Given the description of an element on the screen output the (x, y) to click on. 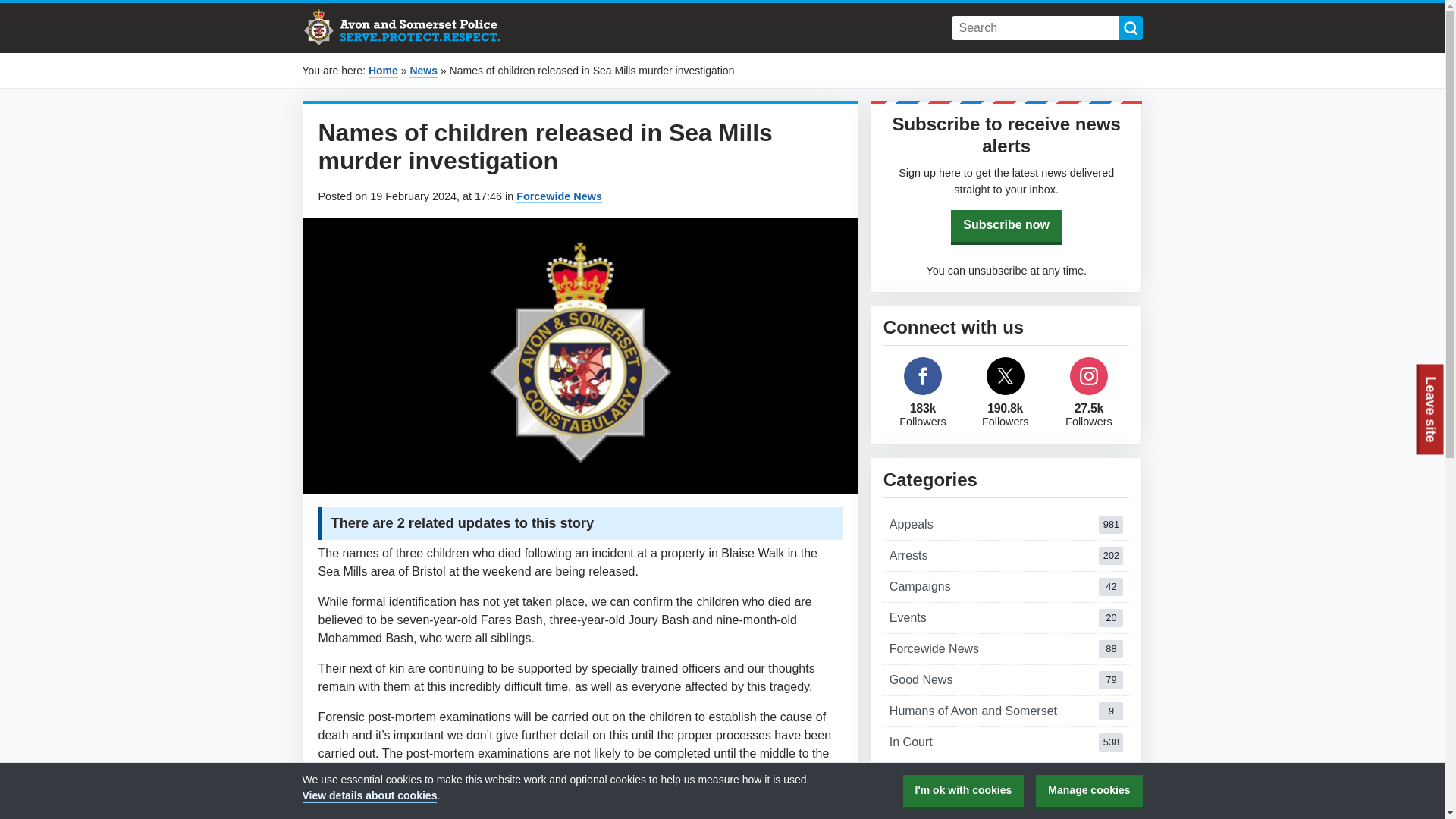
News (1006, 555)
Search (423, 70)
Forcewide News (1006, 524)
Home (1006, 617)
Instagram (1006, 680)
Facebook (1006, 648)
